Given the description of an element on the screen output the (x, y) to click on. 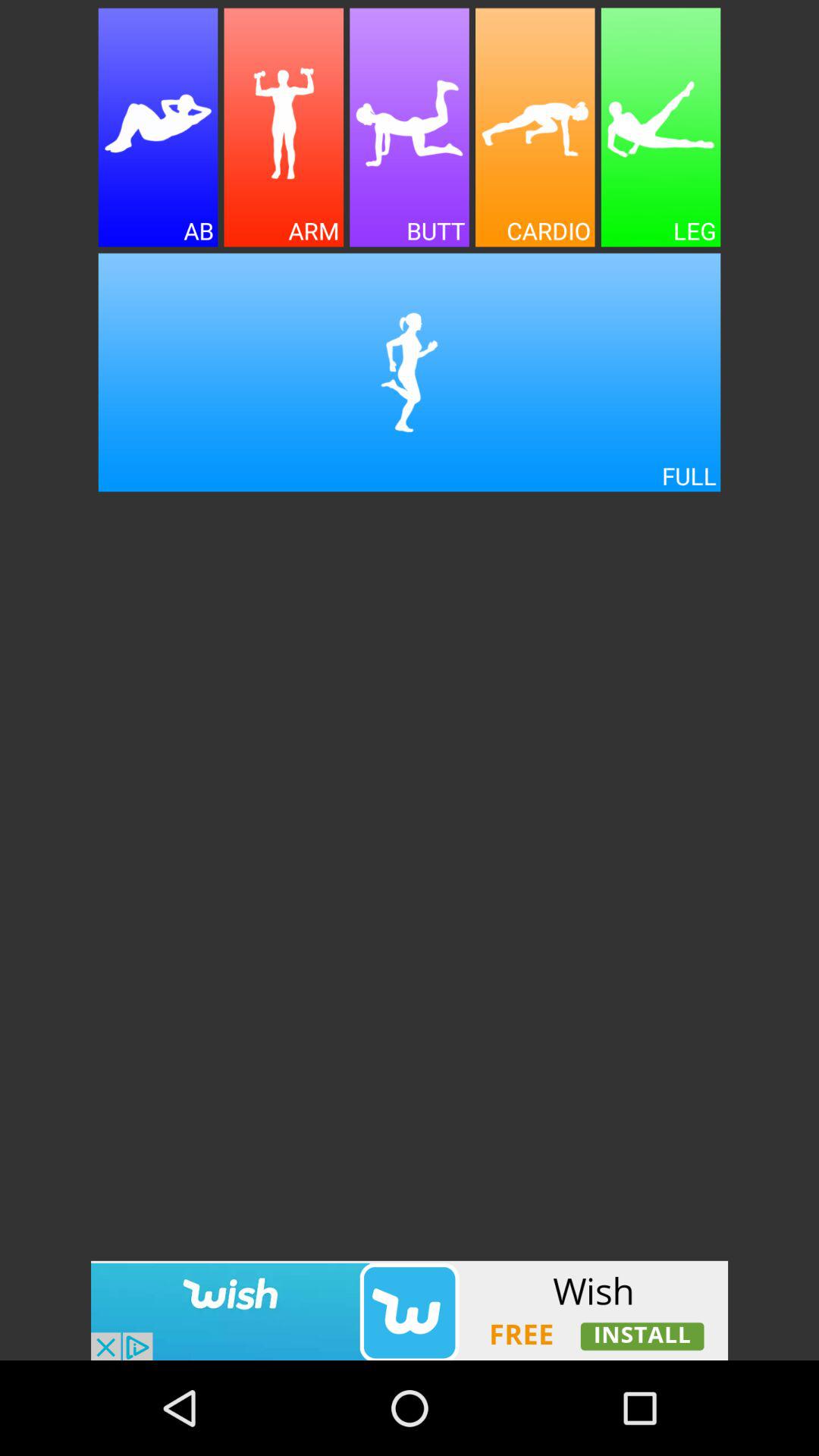
open advertisement (409, 1310)
